Given the description of an element on the screen output the (x, y) to click on. 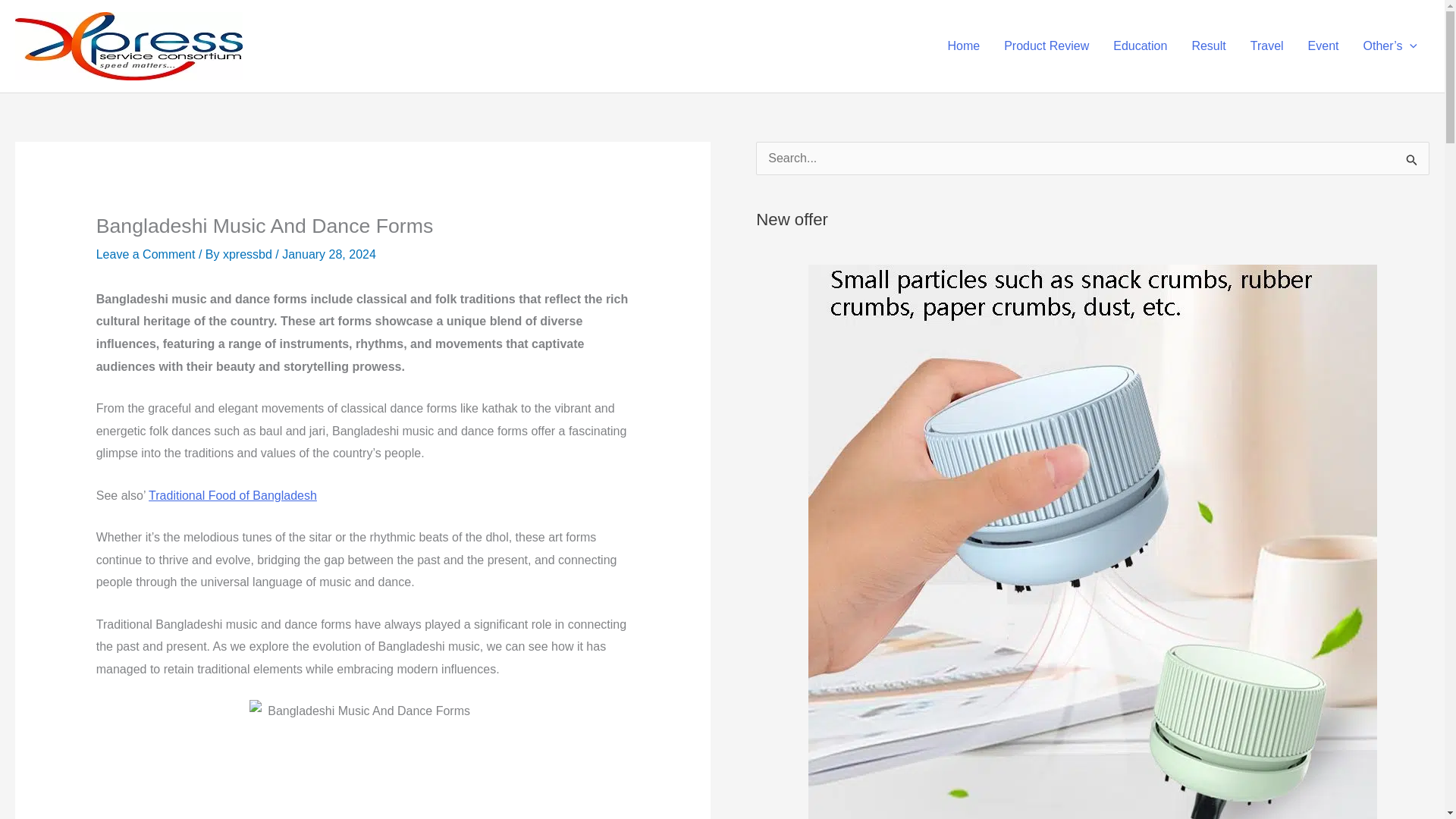
Home (962, 45)
Result (1208, 45)
Product Review (1045, 45)
Travel (1267, 45)
View all posts by xpressbd (248, 254)
Education (1139, 45)
Event (1323, 45)
xpressbd (248, 254)
Leave a Comment (145, 254)
